Given the description of an element on the screen output the (x, y) to click on. 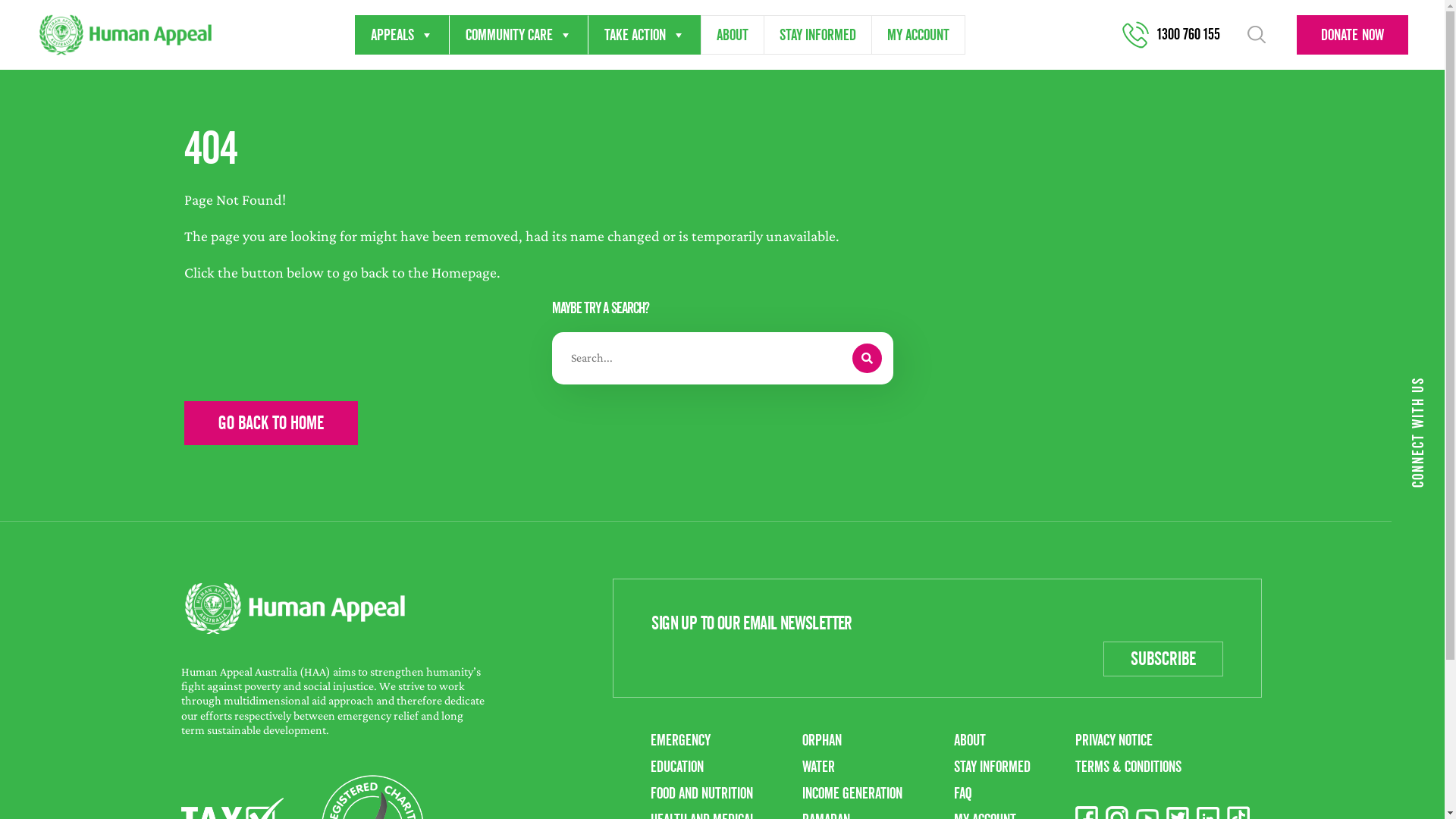
TAKE ACTION Element type: text (644, 34)
Income Generation Element type: text (852, 793)
Faq Element type: text (962, 793)
Water Element type: text (818, 766)
Stay Informed Element type: text (991, 766)
Emergency Element type: text (680, 740)
Food and Nutrition Element type: text (701, 793)
Education Element type: text (676, 766)
DONATE
NOW Element type: text (1352, 34)
1300 760 155 Element type: text (1179, 34)
Orphan Element type: text (821, 740)
MY ACCOUNT Element type: text (918, 34)
GO BACK TO HOME Element type: text (270, 423)
Privacy Notice Element type: text (1113, 740)
APPEALS Element type: text (401, 34)
ABOUT Element type: text (732, 34)
SUBSCRIBE Element type: text (1163, 658)
COMMUNITY CARE Element type: text (518, 34)
Terms & Conditions Element type: text (1128, 766)
About Element type: text (969, 740)
STAY INFORMED Element type: text (817, 34)
